Given the description of an element on the screen output the (x, y) to click on. 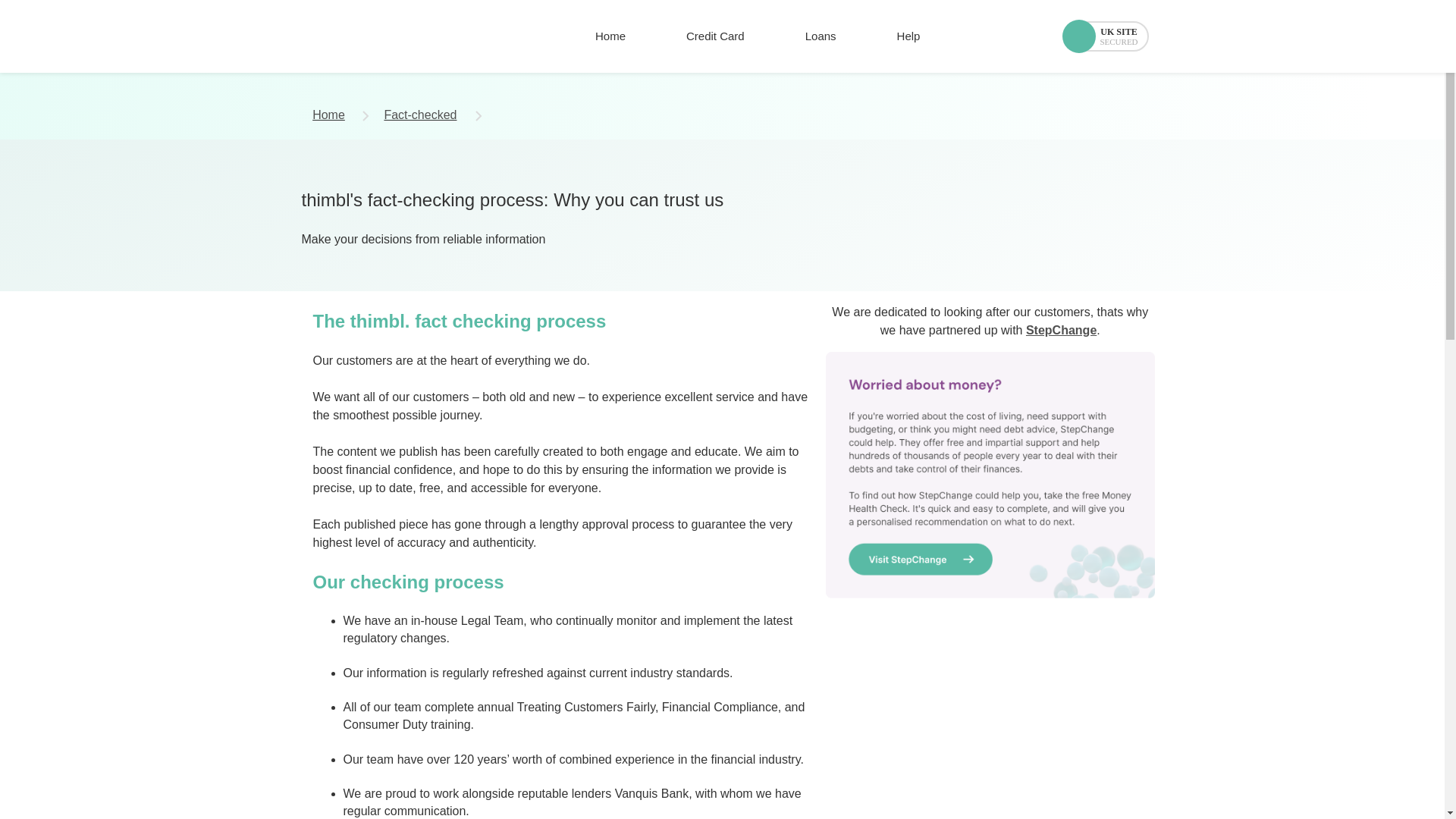
Loans (820, 36)
Credit Card (715, 36)
Home (610, 36)
Help (908, 36)
